Given the description of an element on the screen output the (x, y) to click on. 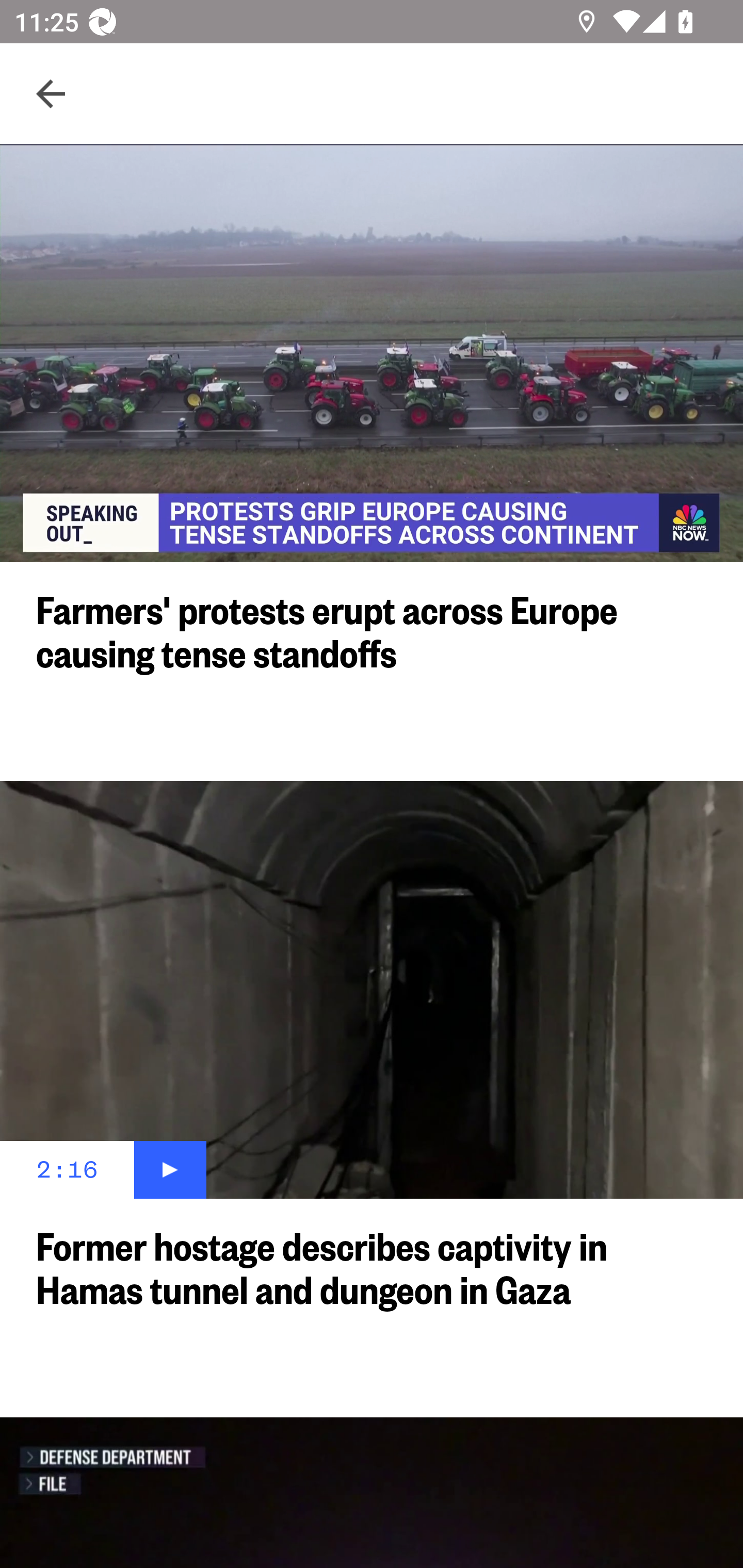
Navigate up (50, 93)
